Given the description of an element on the screen output the (x, y) to click on. 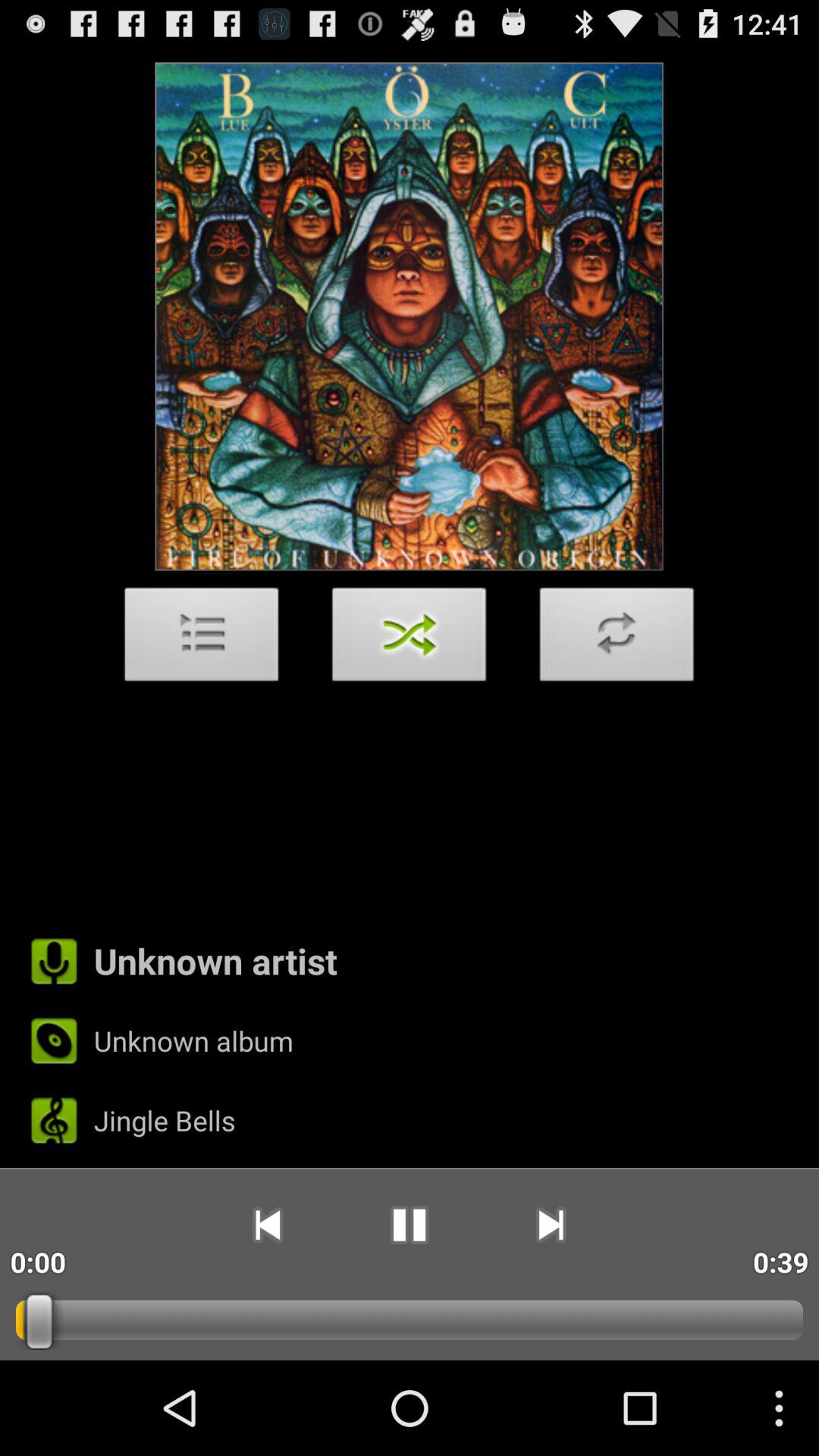
launch app to the right of 0:00 icon (267, 1224)
